Given the description of an element on the screen output the (x, y) to click on. 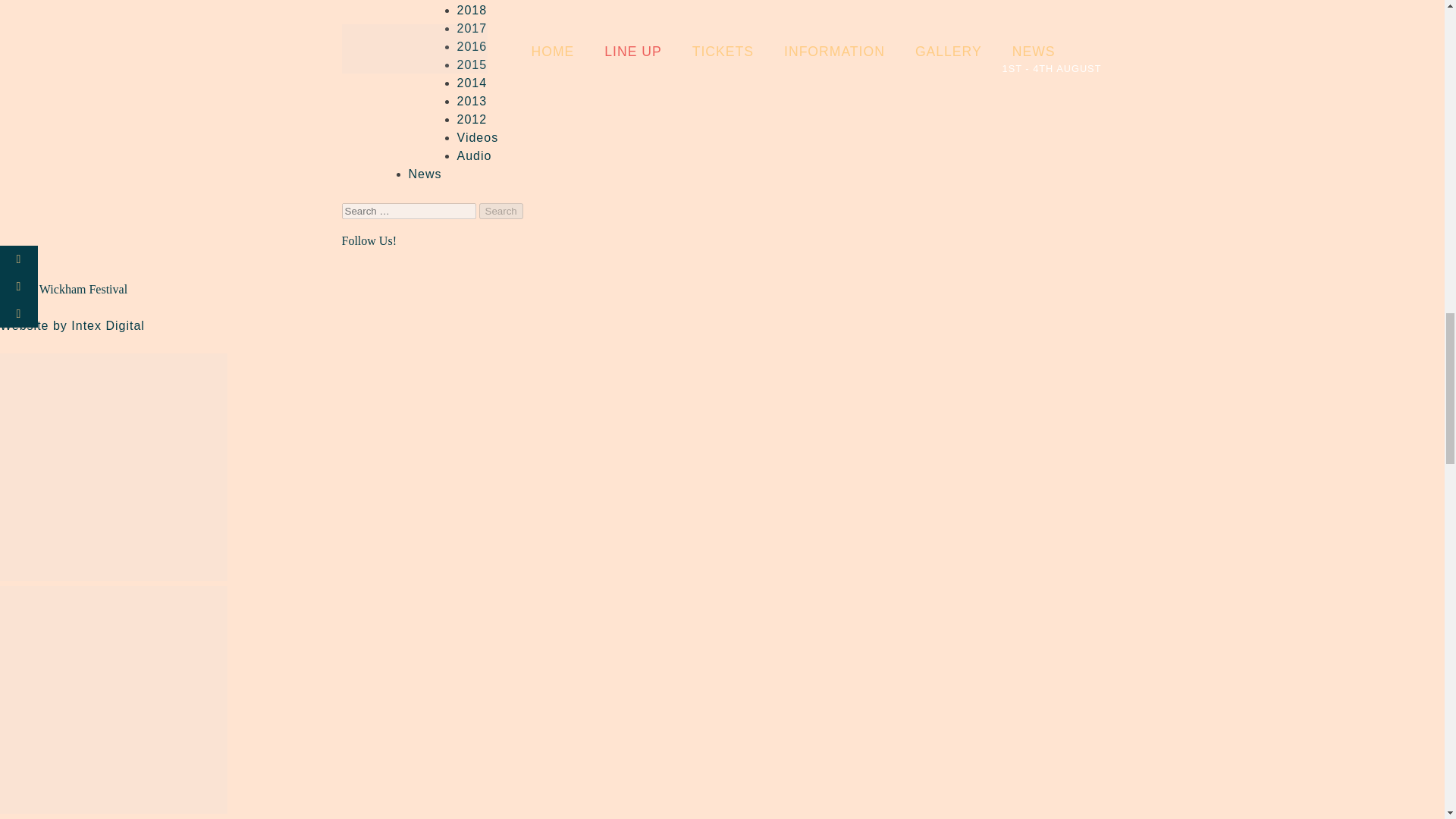
Search (500, 211)
Search (500, 211)
Wickham Parish Council (113, 702)
